Given the description of an element on the screen output the (x, y) to click on. 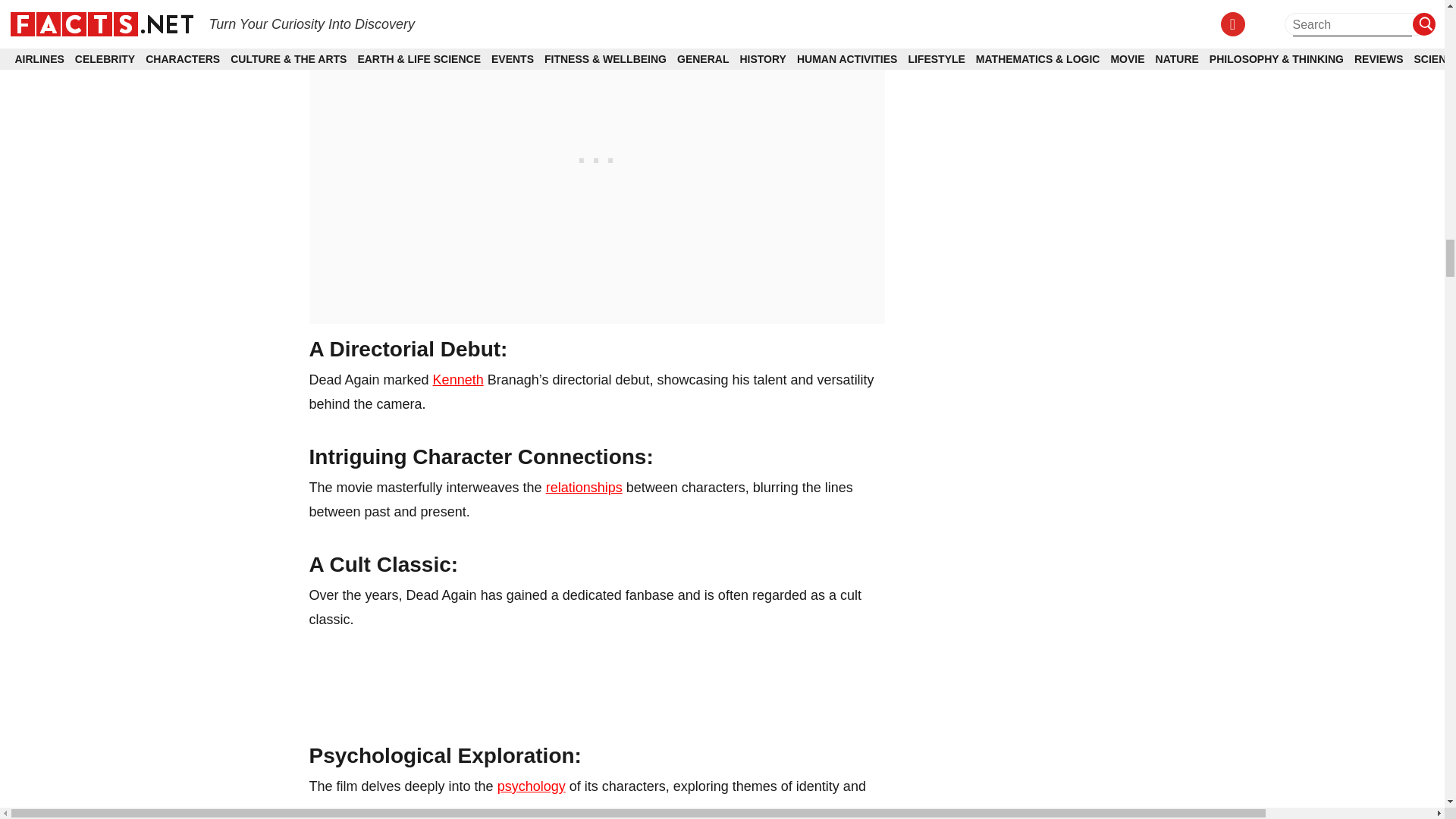
Kenneth (457, 379)
